Given the description of an element on the screen output the (x, y) to click on. 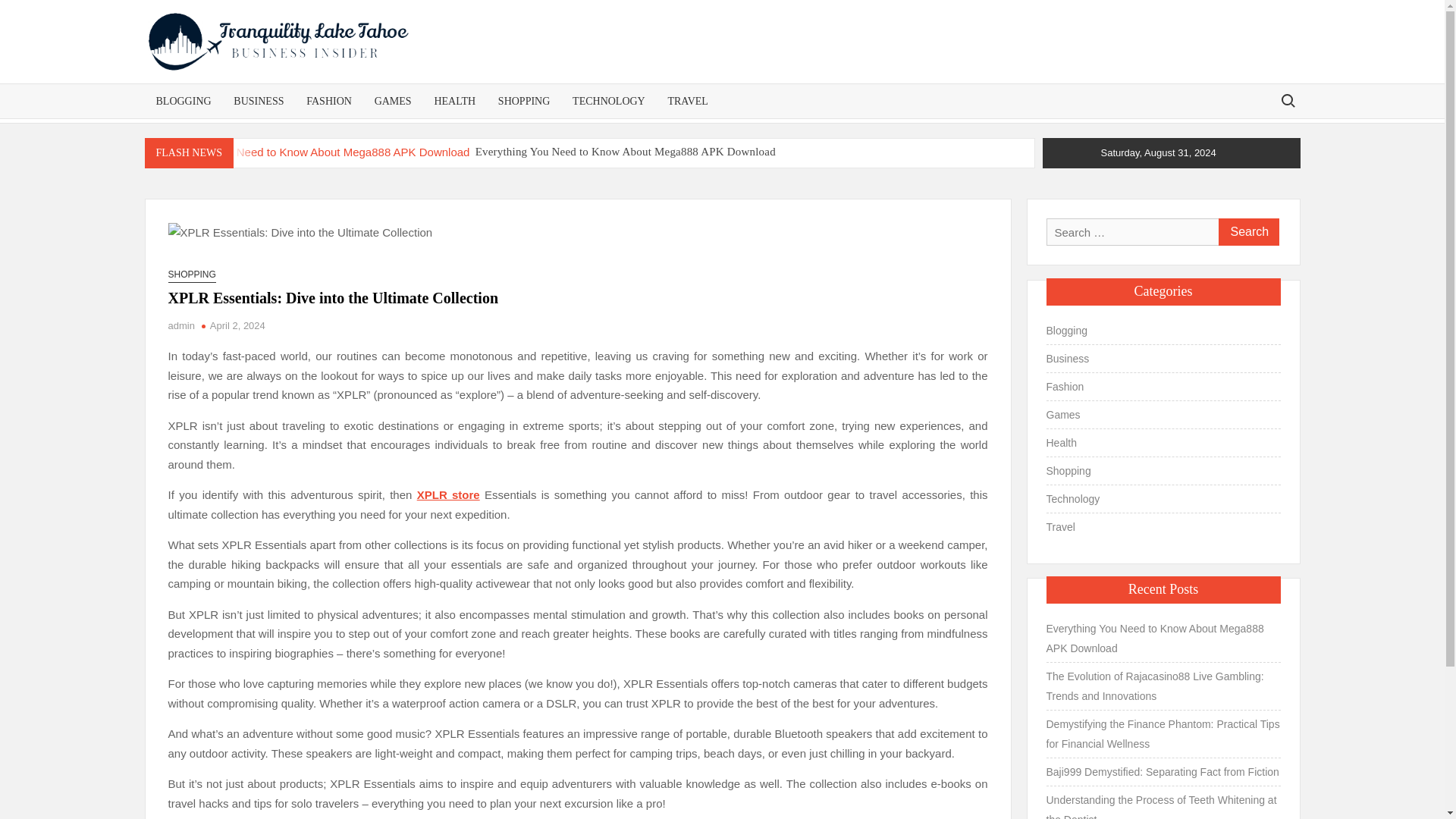
HEALTH (454, 100)
TRAVEL (687, 100)
Everything You Need to Know About Mega888 APK Download (308, 151)
Everything You Need to Know About Mega888 APK Download (626, 151)
BUSINESS (258, 100)
BLOGGING (183, 100)
Everything You Need to Know About Mega888 APK Download (626, 151)
Search (1247, 231)
GAMES (392, 100)
